Given the description of an element on the screen output the (x, y) to click on. 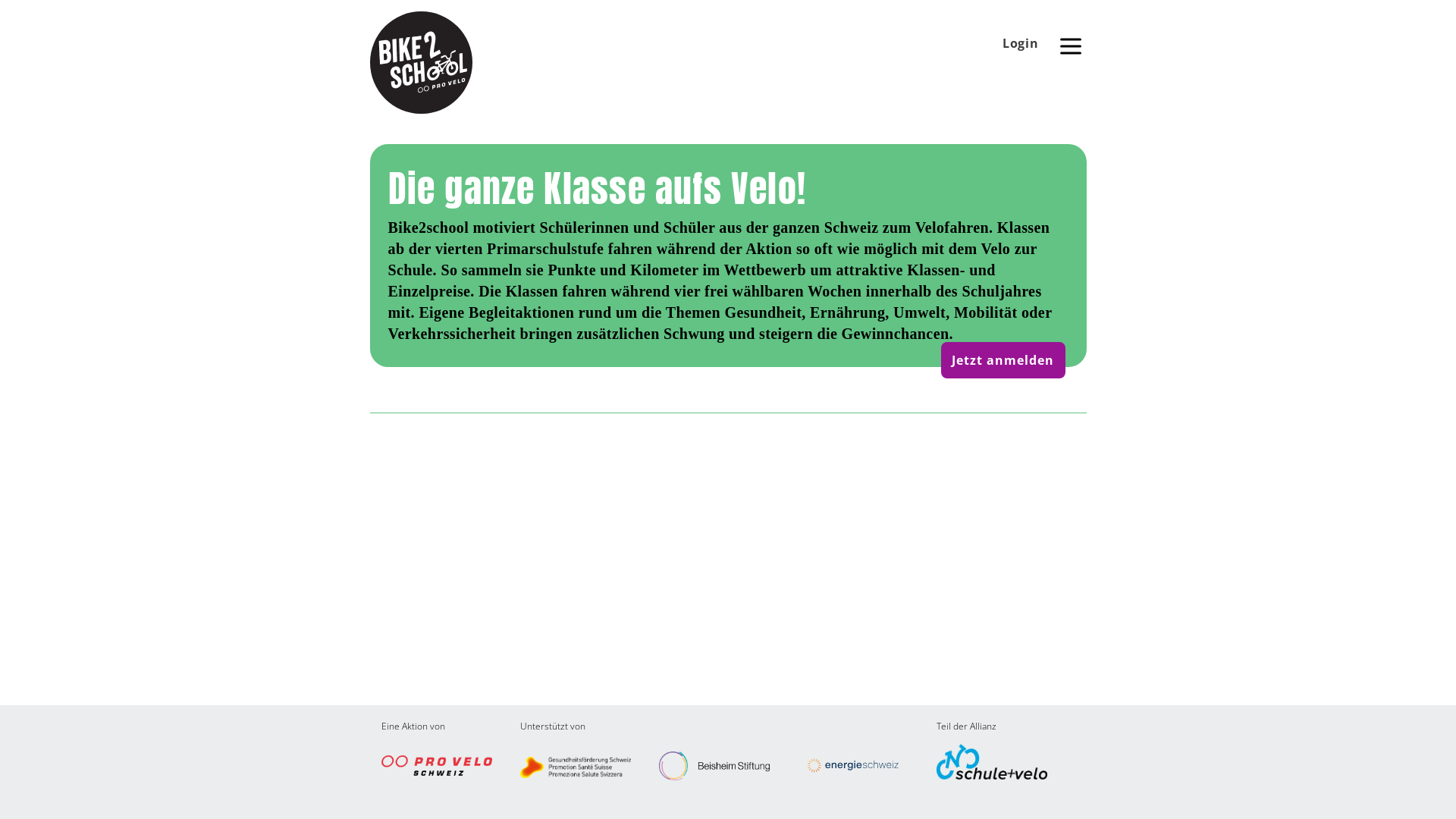
Login Element type: text (1020, 43)
Jetzt anmelden Element type: text (1002, 360)
